Given the description of an element on the screen output the (x, y) to click on. 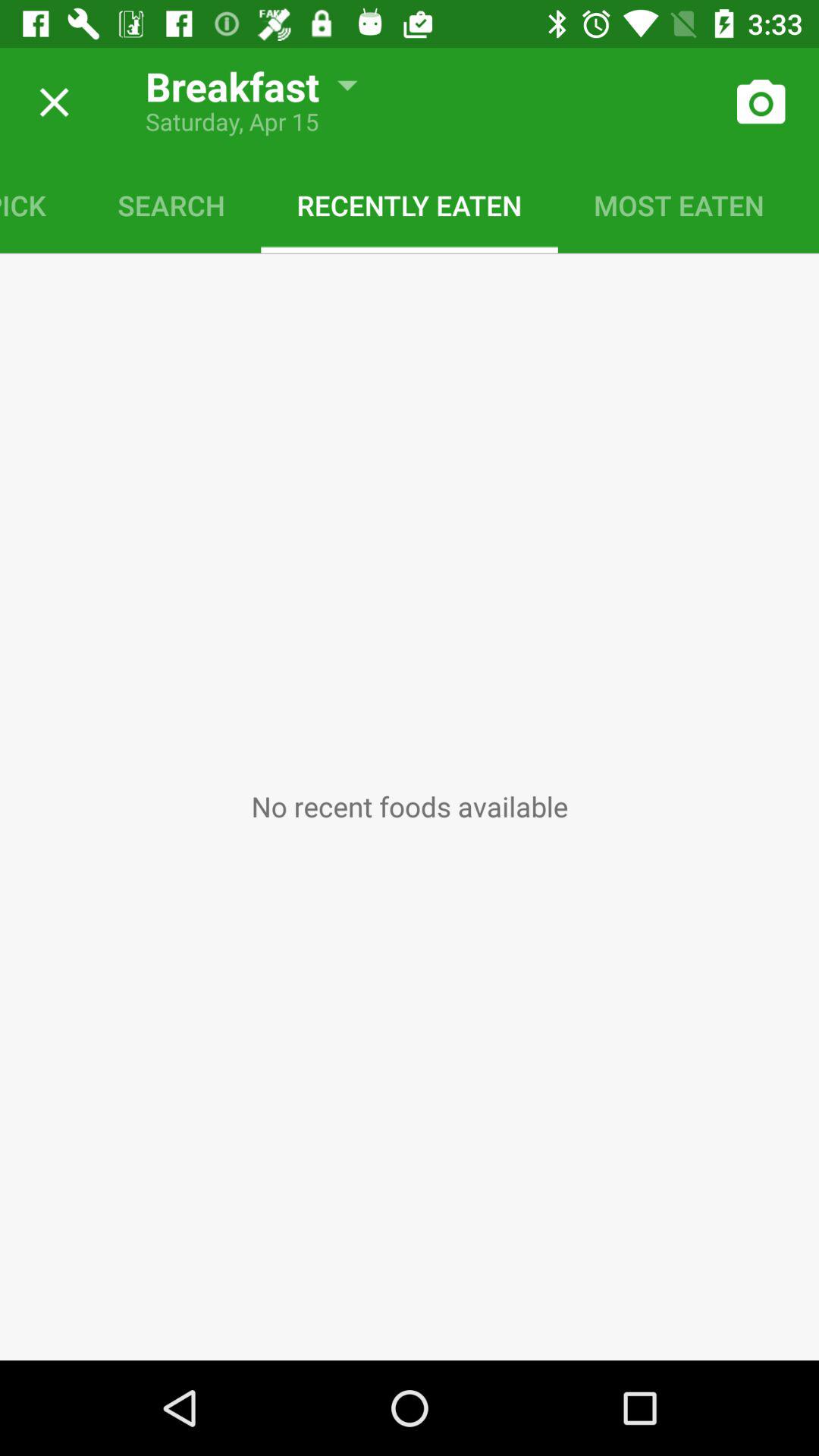
select icon next to saved meal icon (678, 205)
